Given the description of an element on the screen output the (x, y) to click on. 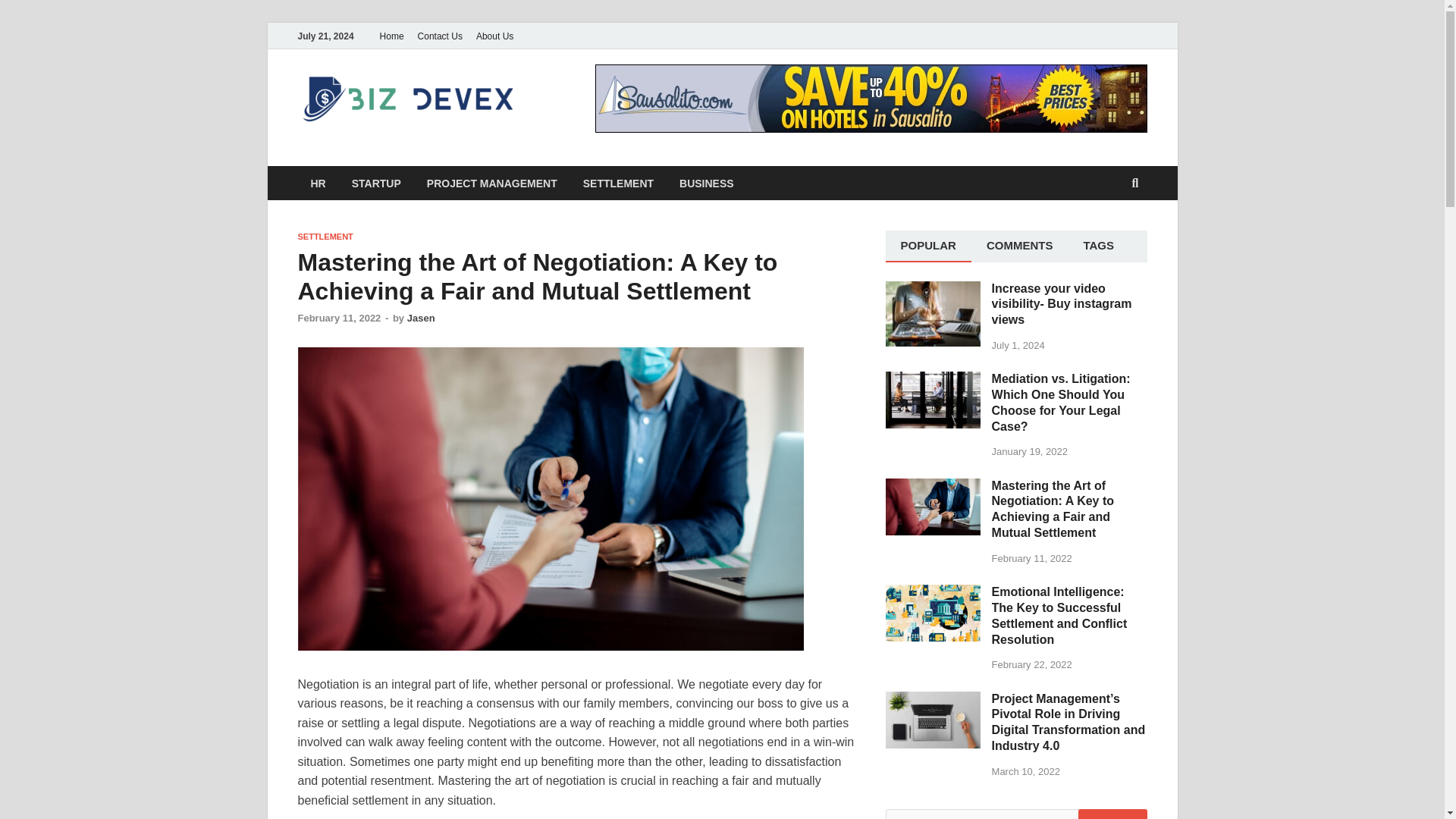
SETTLEMENT (618, 182)
About Us (493, 35)
Biz Devex (598, 100)
Contact Us (439, 35)
Home (391, 35)
PROJECT MANAGEMENT (491, 182)
BUSINESS (706, 182)
February 11, 2022 (338, 317)
Jasen (421, 317)
Search (1112, 814)
HR (317, 182)
Search (1112, 814)
